Given the description of an element on the screen output the (x, y) to click on. 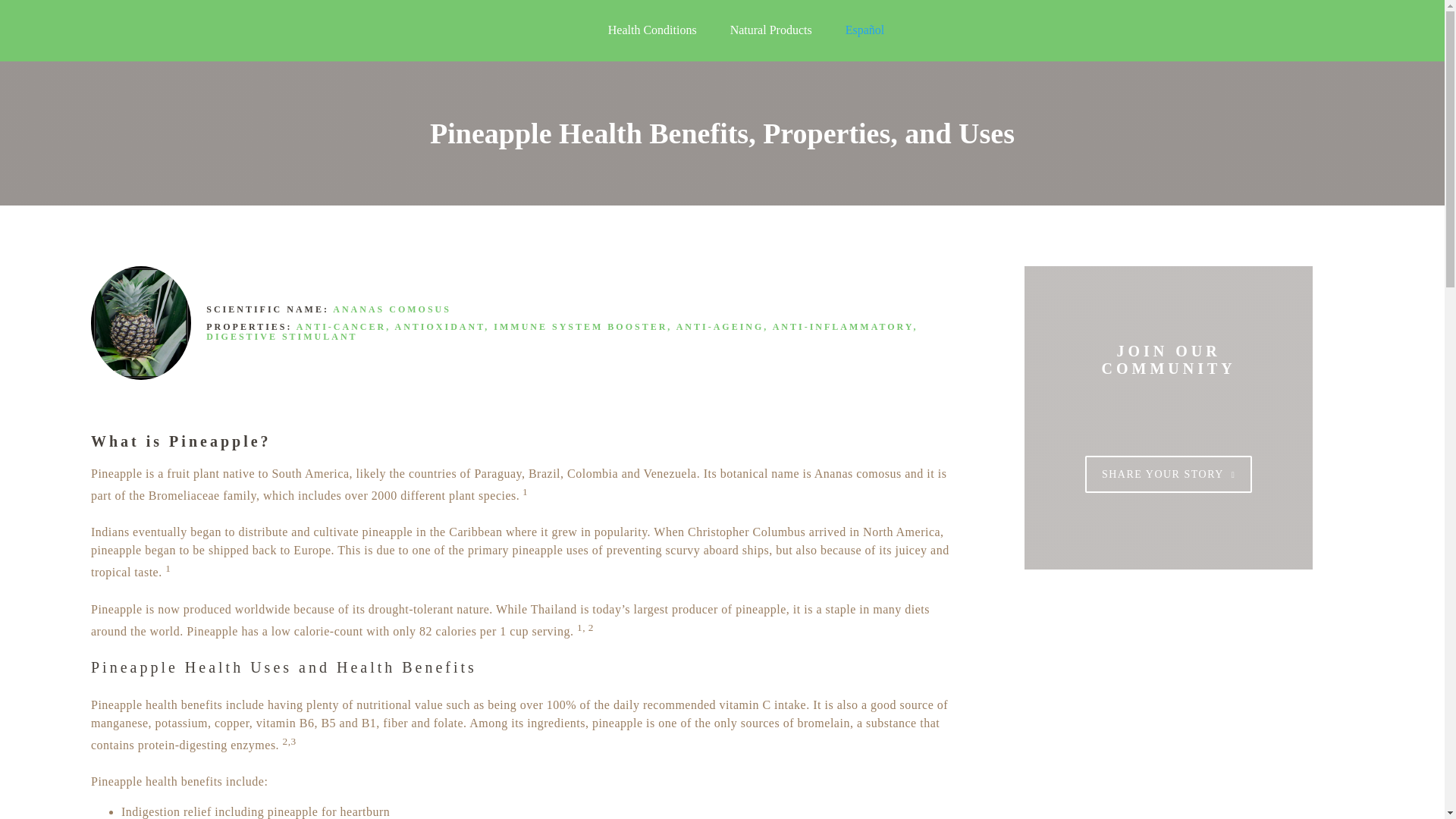
Natural Products (771, 30)
Health Conditions (652, 30)
CuresDecoded (205, 30)
